Given the description of an element on the screen output the (x, y) to click on. 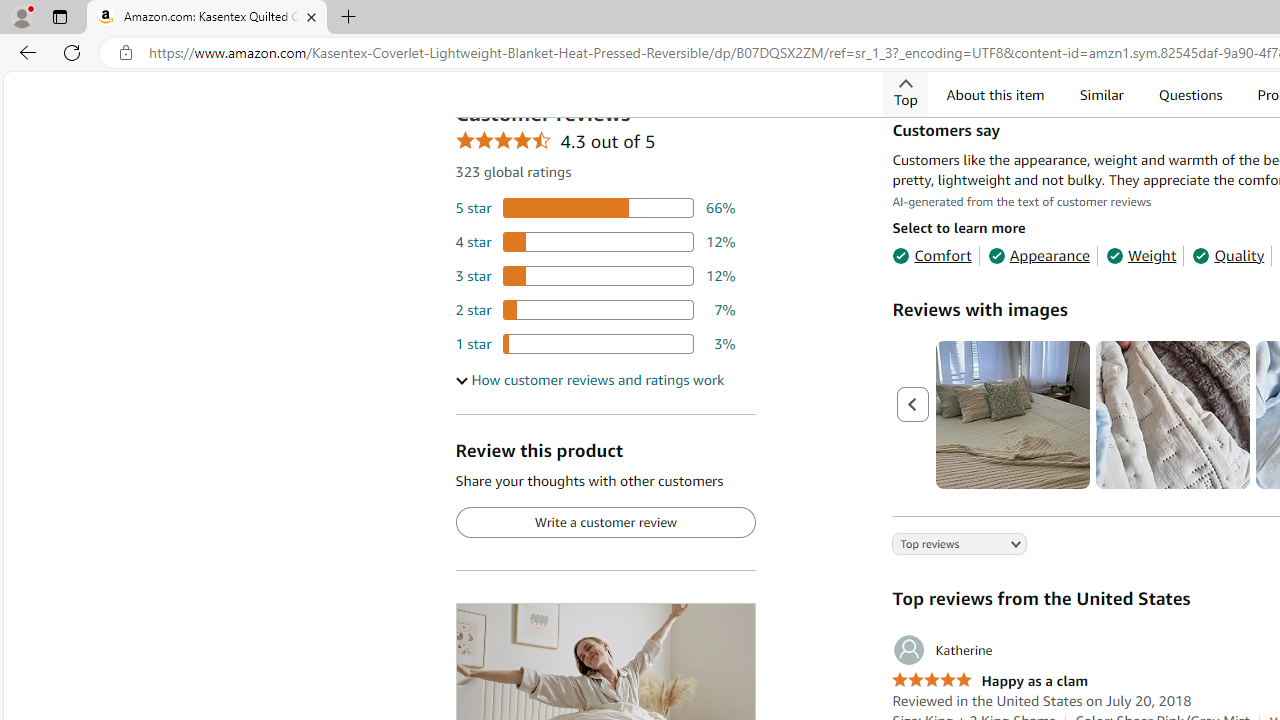
Previous page (913, 405)
Katherine (942, 650)
Class: a-carousel-card (1173, 413)
Comfort (931, 254)
About this item (995, 94)
AutomationID: cm-cr-sort-dropdown (943, 546)
66 percent of reviews have 5 stars (595, 207)
Weight (1140, 254)
Similar (1100, 94)
Top (906, 94)
7 percent of reviews have 2 stars (595, 308)
12 percent of reviews have 4 stars (595, 241)
